Given the description of an element on the screen output the (x, y) to click on. 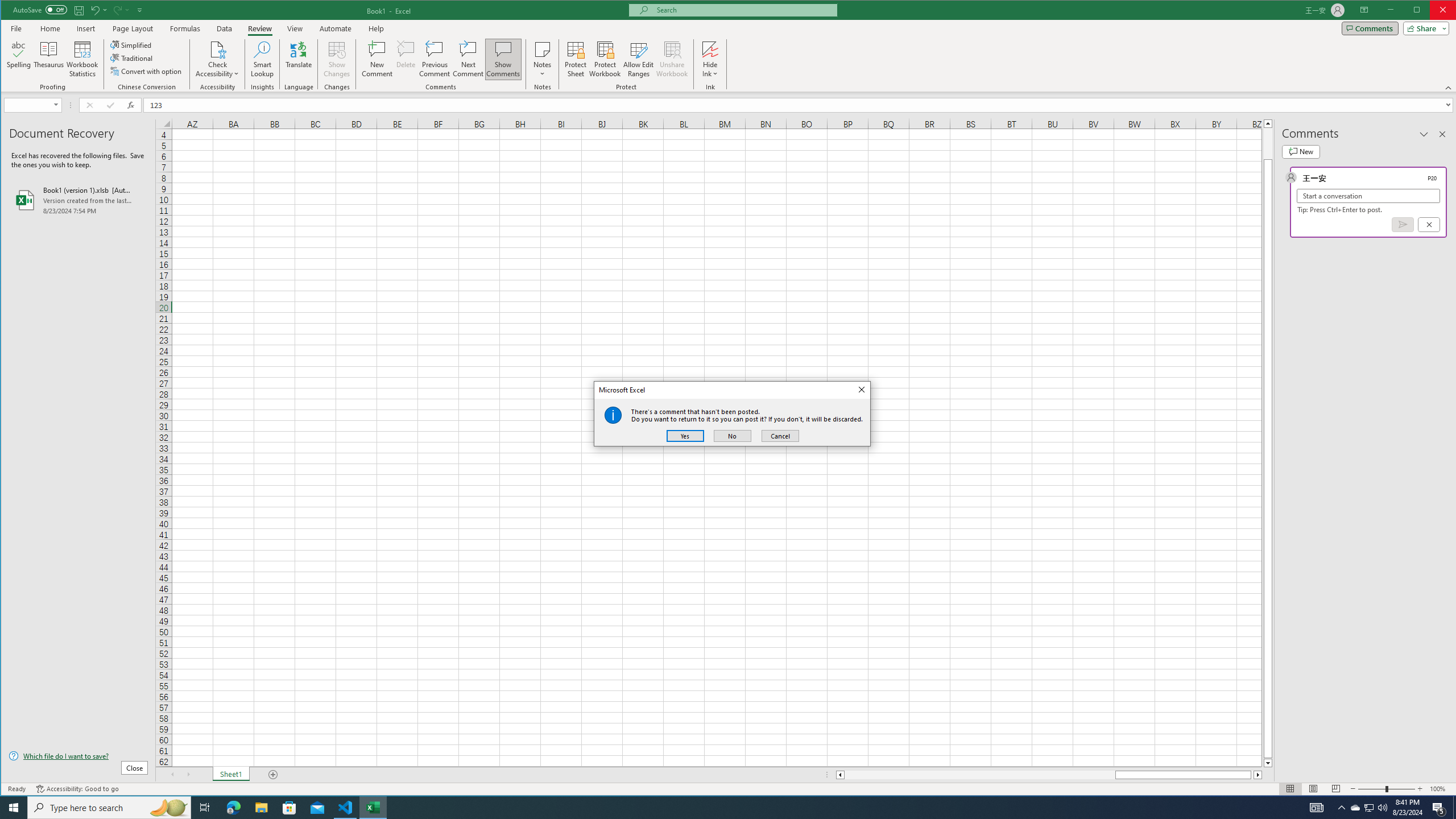
Workbook Statistics (82, 59)
File Explorer (261, 807)
View (294, 28)
Protect Workbook... (604, 59)
Yes (684, 435)
Microsoft Store (289, 807)
Page right (1251, 774)
Line down (1267, 763)
Smart Lookup (1368, 807)
Notes (261, 59)
Delete (541, 59)
Spelling... (405, 59)
Allow Edit Ranges (18, 59)
